Given the description of an element on the screen output the (x, y) to click on. 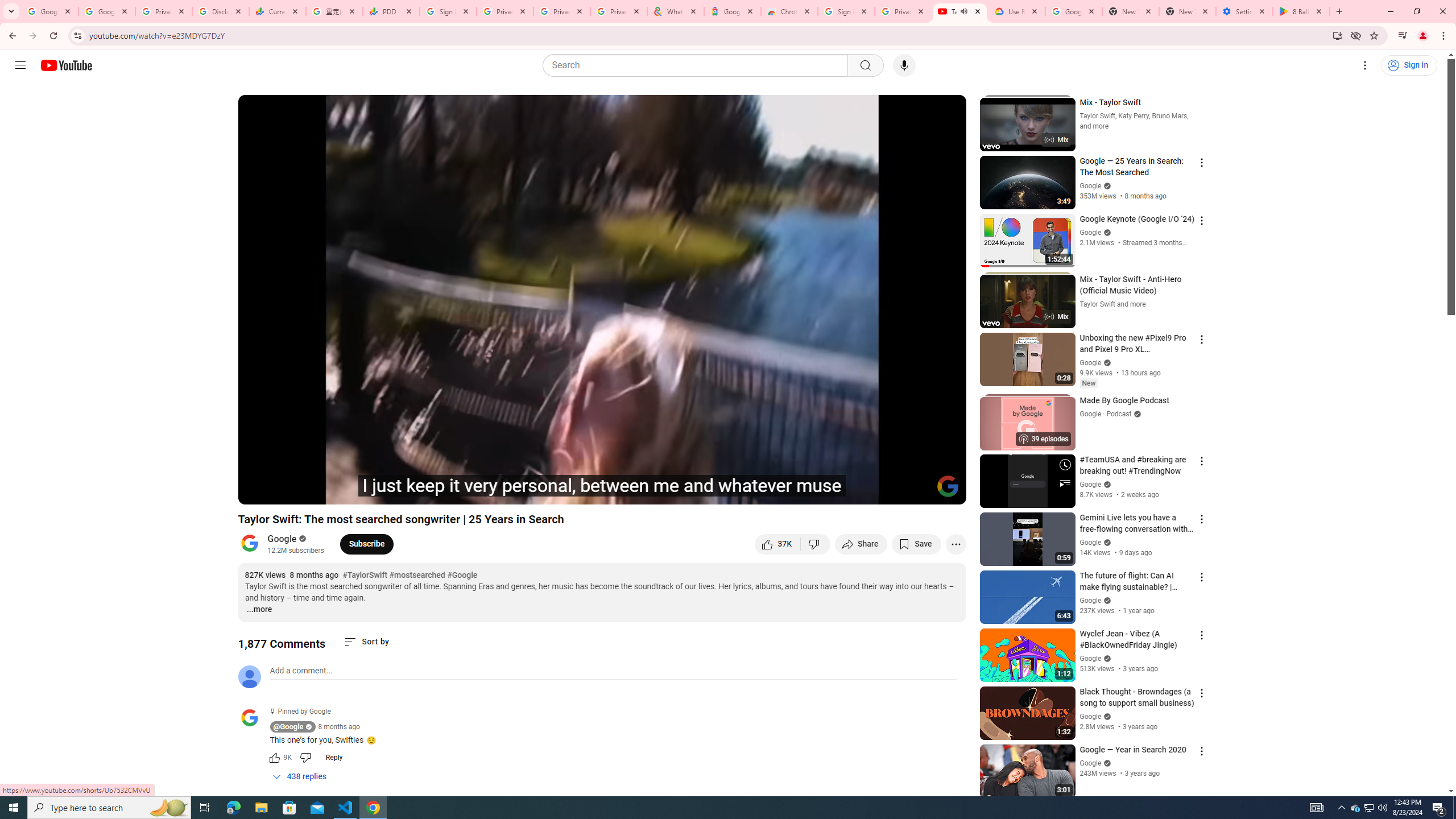
AutomationID: simplebox-placeholder (301, 670)
Seek slider (601, 476)
#Google (461, 575)
Settings - System (1244, 11)
Mute (m) (312, 490)
Currencies - Google Finance (277, 11)
